Given the description of an element on the screen output the (x, y) to click on. 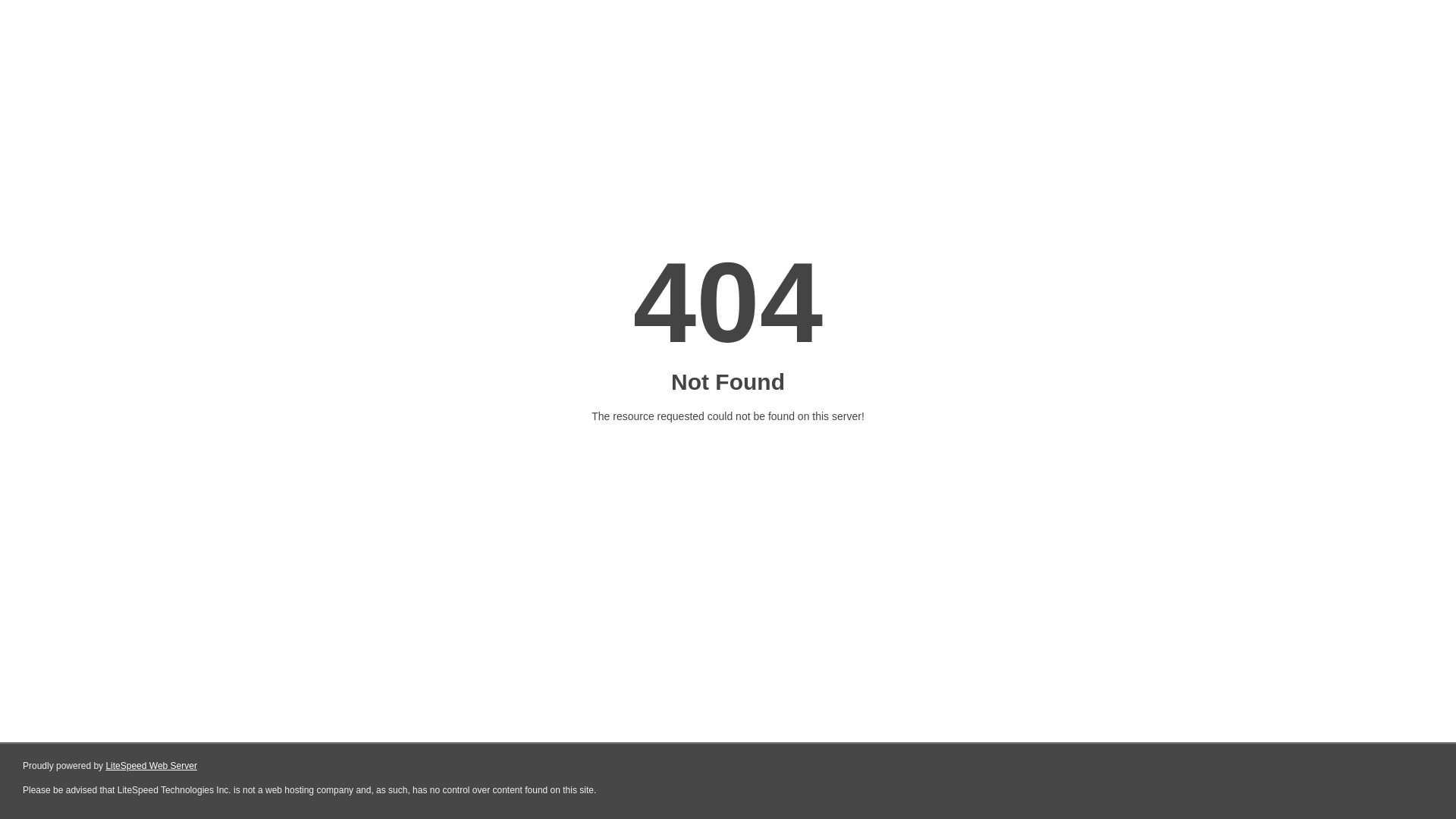
LiteSpeed Web Server Element type: text (151, 765)
